Given the description of an element on the screen output the (x, y) to click on. 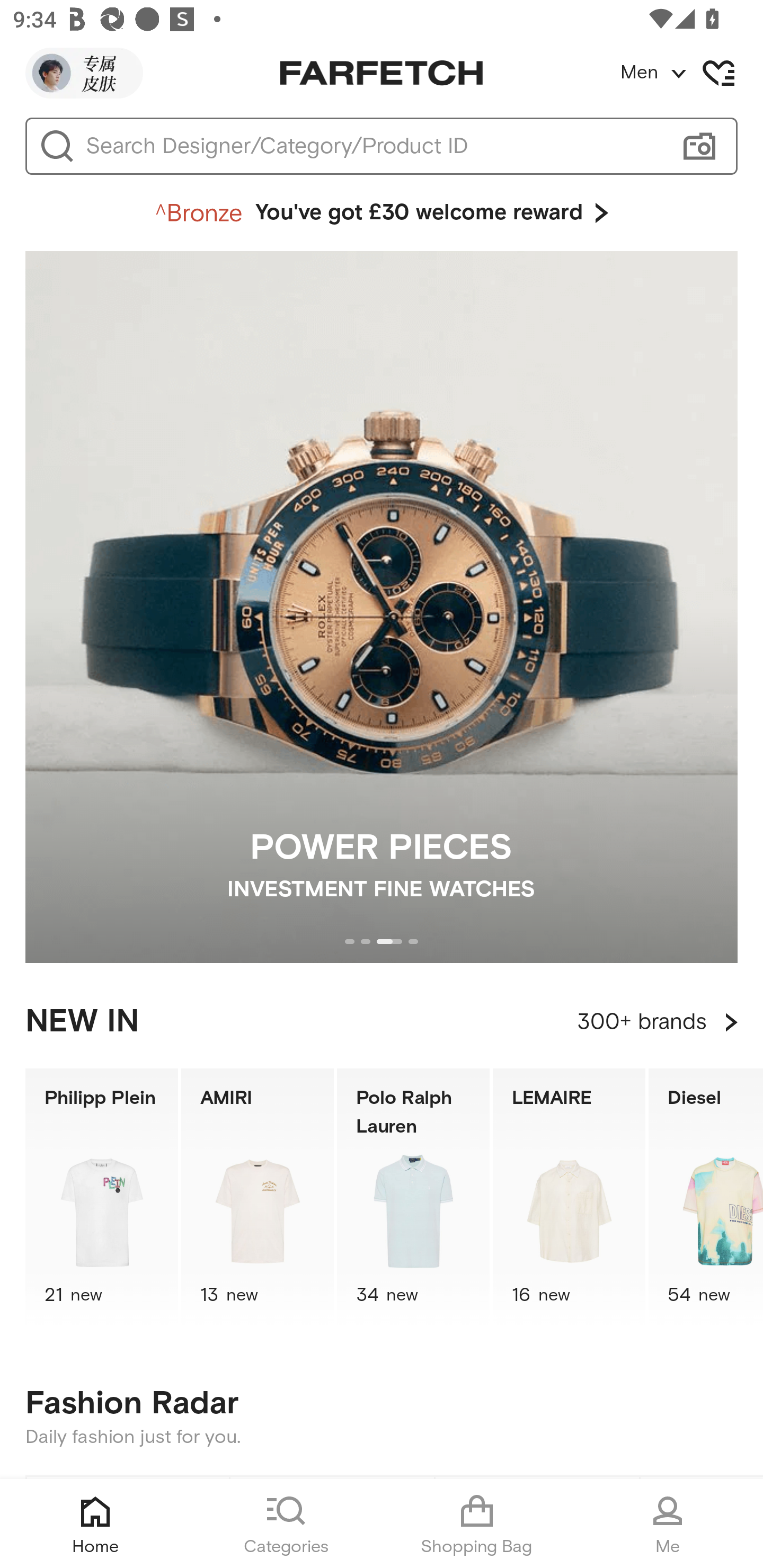
Men (691, 72)
Search Designer/Category/Product ID (373, 146)
You've got £30 welcome reward (381, 213)
NEW IN 300+ brands (381, 1021)
Philipp Plein 21  new (101, 1196)
AMIRI 13  new (257, 1196)
Polo Ralph Lauren 34  new (413, 1196)
LEMAIRE 16  new (568, 1196)
Diesel 54  new (705, 1196)
Categories (285, 1523)
Shopping Bag (476, 1523)
Me (667, 1523)
